Given the description of an element on the screen output the (x, y) to click on. 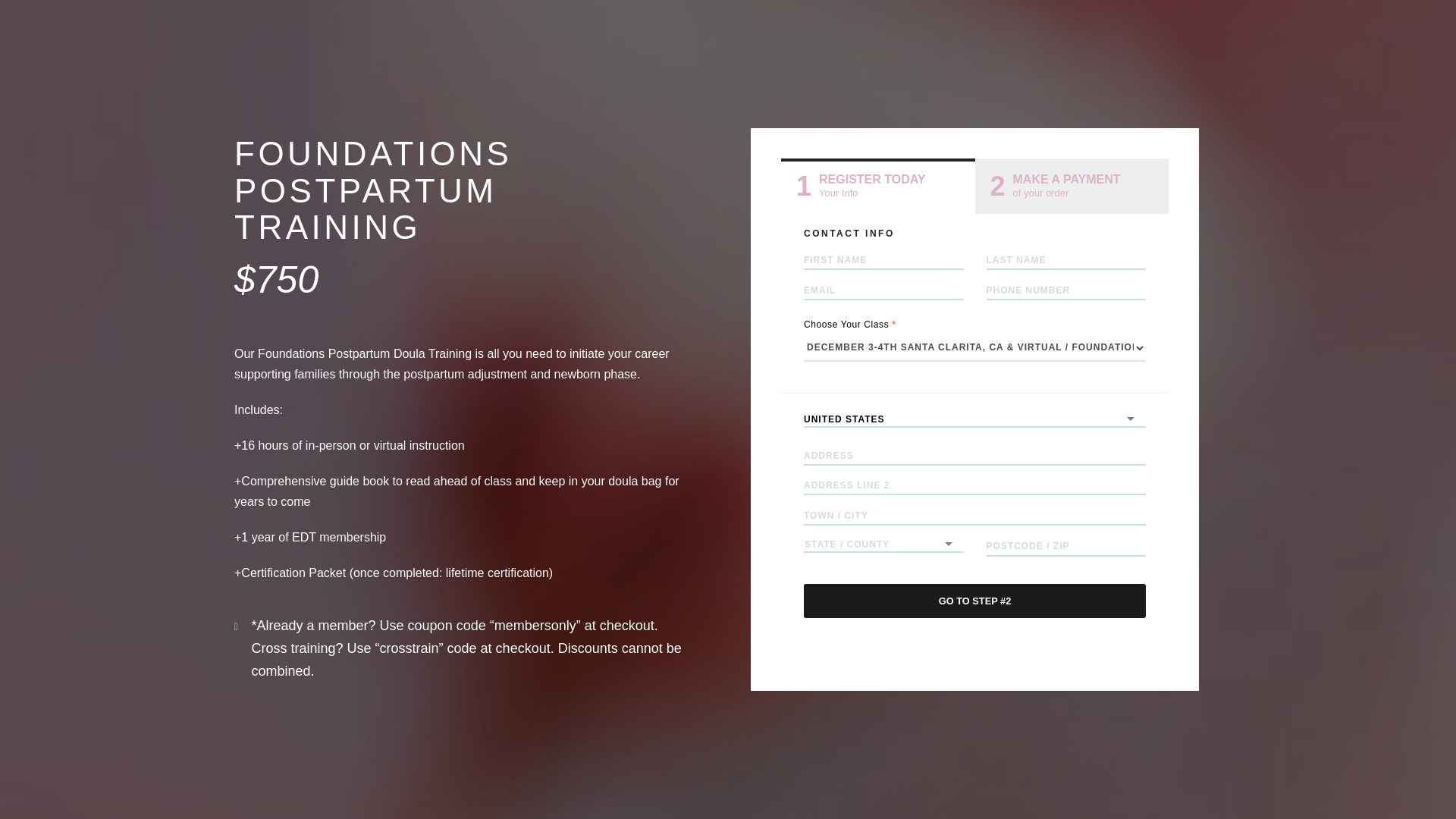
Skip to content (877, 187)
